Given the description of an element on the screen output the (x, y) to click on. 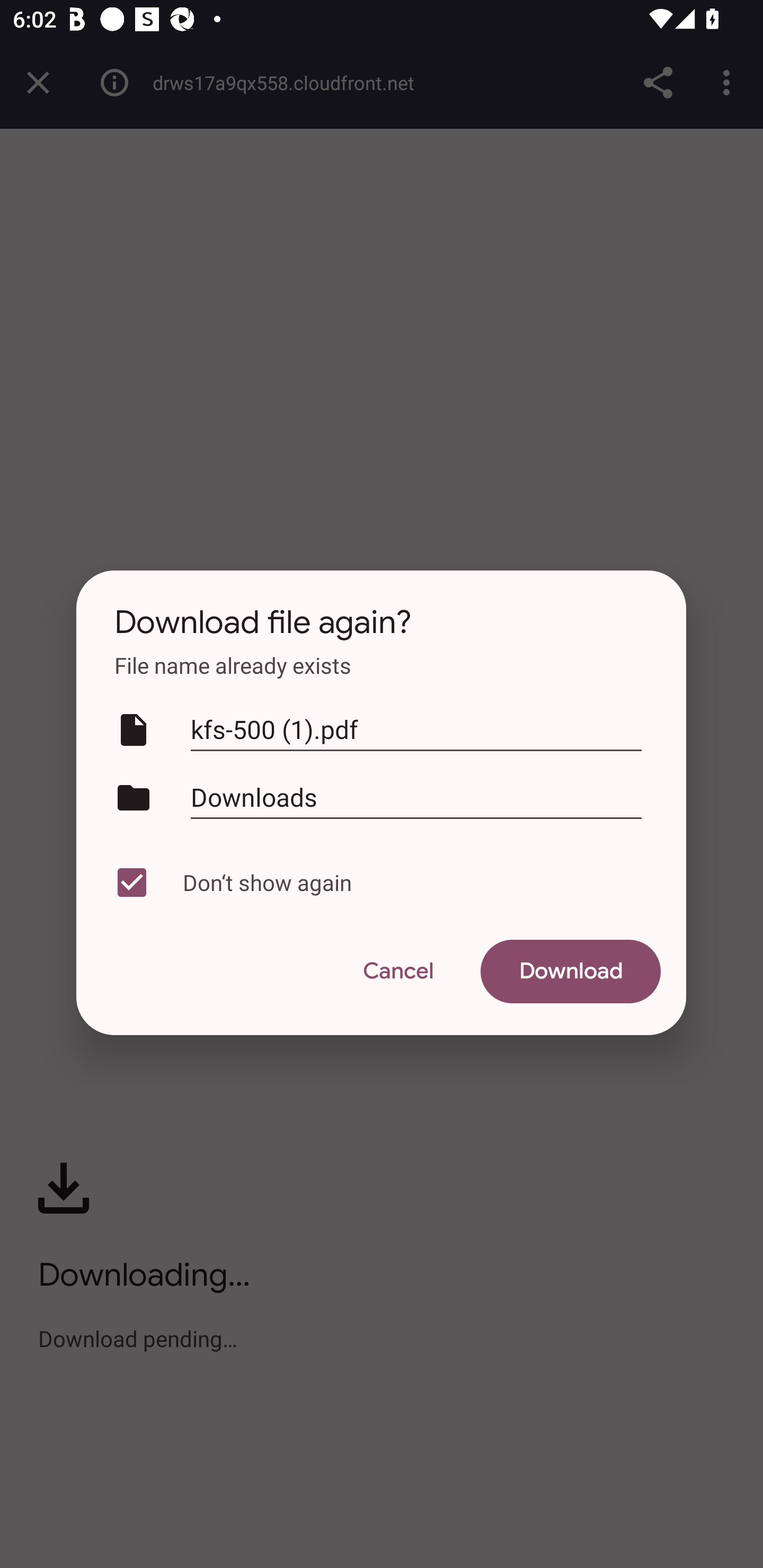
kfs-500 (1).pdf (415, 729)
Downloads (415, 797)
Don‘t show again (376, 882)
Cancel (397, 970)
Download (570, 970)
